Given the description of an element on the screen output the (x, y) to click on. 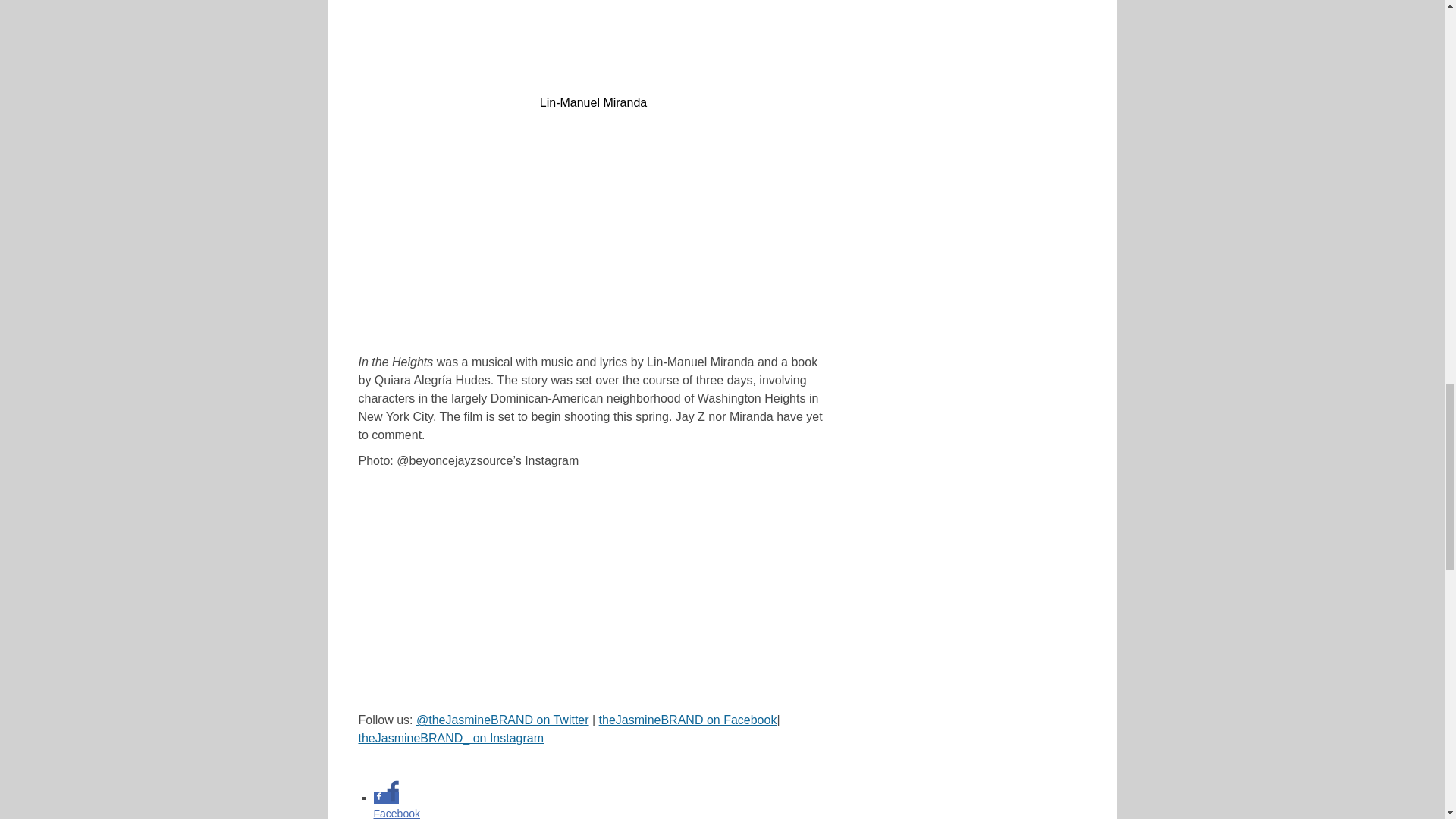
theJasmineBRAND on Facebook (687, 719)
Facebook (398, 805)
Jay Z To Produce Lin-Manuel Miranda's "In the Heights" Film (592, 43)
